Given the description of an element on the screen output the (x, y) to click on. 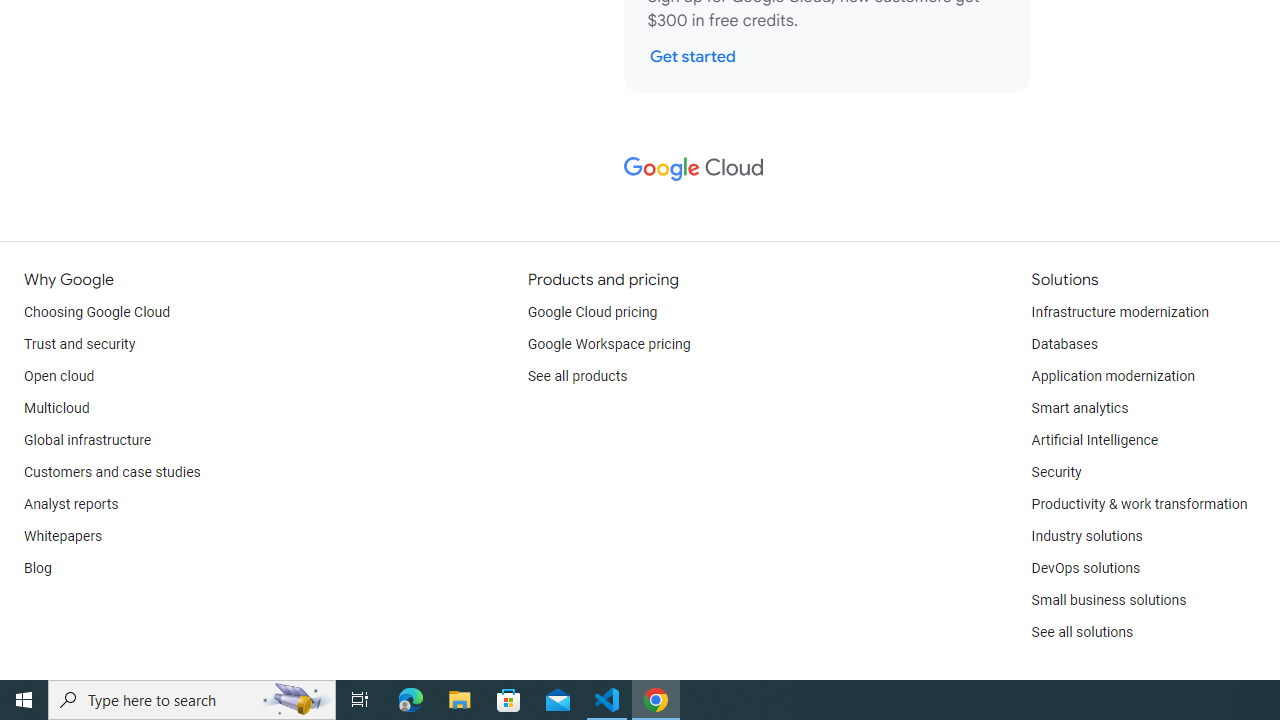
Infrastructure modernization (1119, 312)
Productivity & work transformation (1139, 504)
Get started (692, 56)
Choosing Google Cloud (97, 312)
Customers and case studies (112, 472)
Global infrastructure (88, 440)
Smart analytics (1079, 408)
See all solutions (1082, 632)
Security (1055, 472)
Databases (1064, 344)
Multicloud (56, 408)
Application modernization (1112, 376)
Google Workspace pricing (609, 344)
Whitepapers (63, 536)
See all products (577, 376)
